Given the description of an element on the screen output the (x, y) to click on. 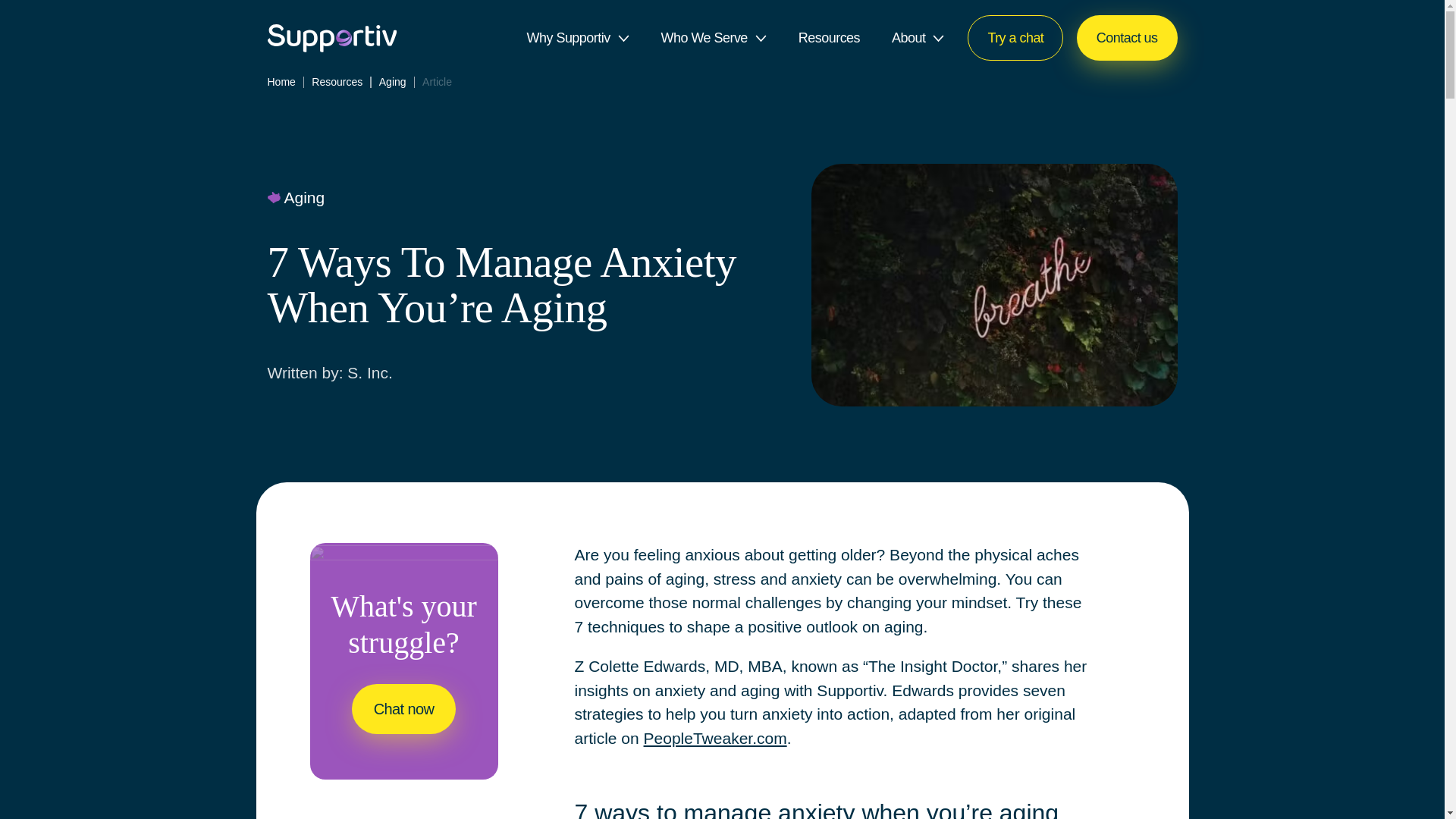
Resources (829, 37)
